Given the description of an element on the screen output the (x, y) to click on. 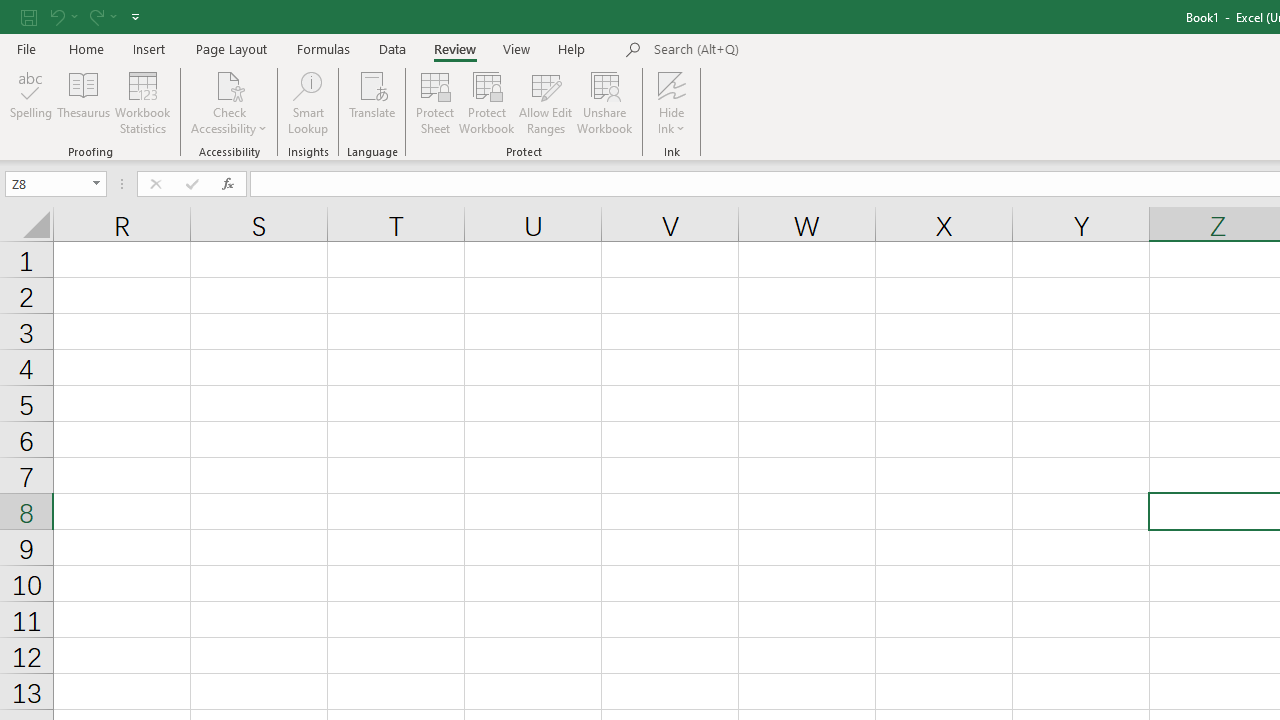
Thesaurus... (83, 102)
Protect Workbook... (486, 102)
Spelling... (31, 102)
Allow Edit Ranges (545, 102)
